Given the description of an element on the screen output the (x, y) to click on. 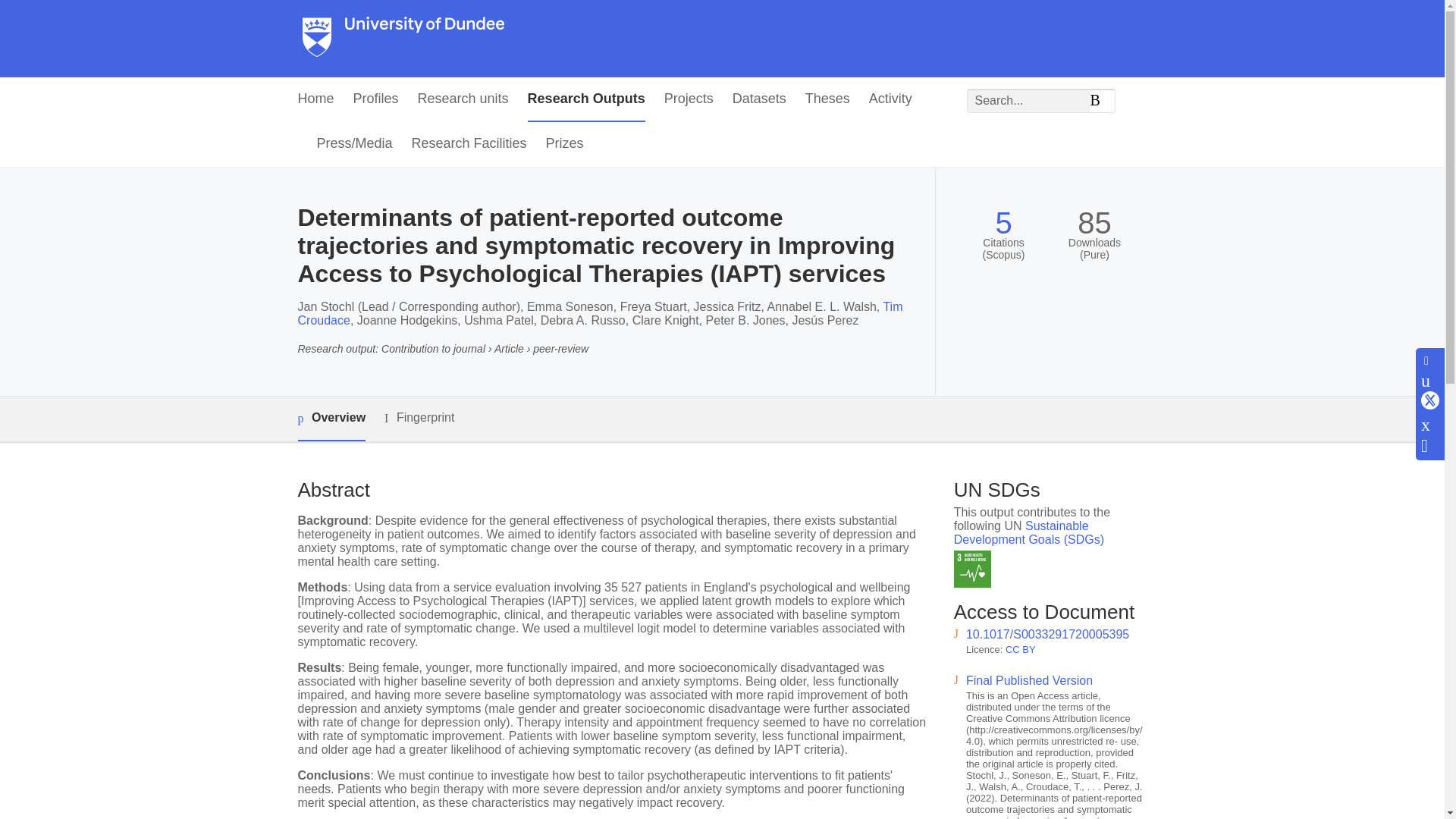
5 (1002, 222)
Projects (688, 99)
Research Facilities (469, 144)
Theses (827, 99)
Tim Croudace (599, 313)
Prizes (564, 144)
Overview (331, 418)
Datasets (759, 99)
SDG 3 - Good Health and Well-being (972, 569)
Profiles (375, 99)
CC BY (1020, 649)
Research units (462, 99)
Home (315, 99)
Fingerprint (419, 417)
